Given the description of an element on the screen output the (x, y) to click on. 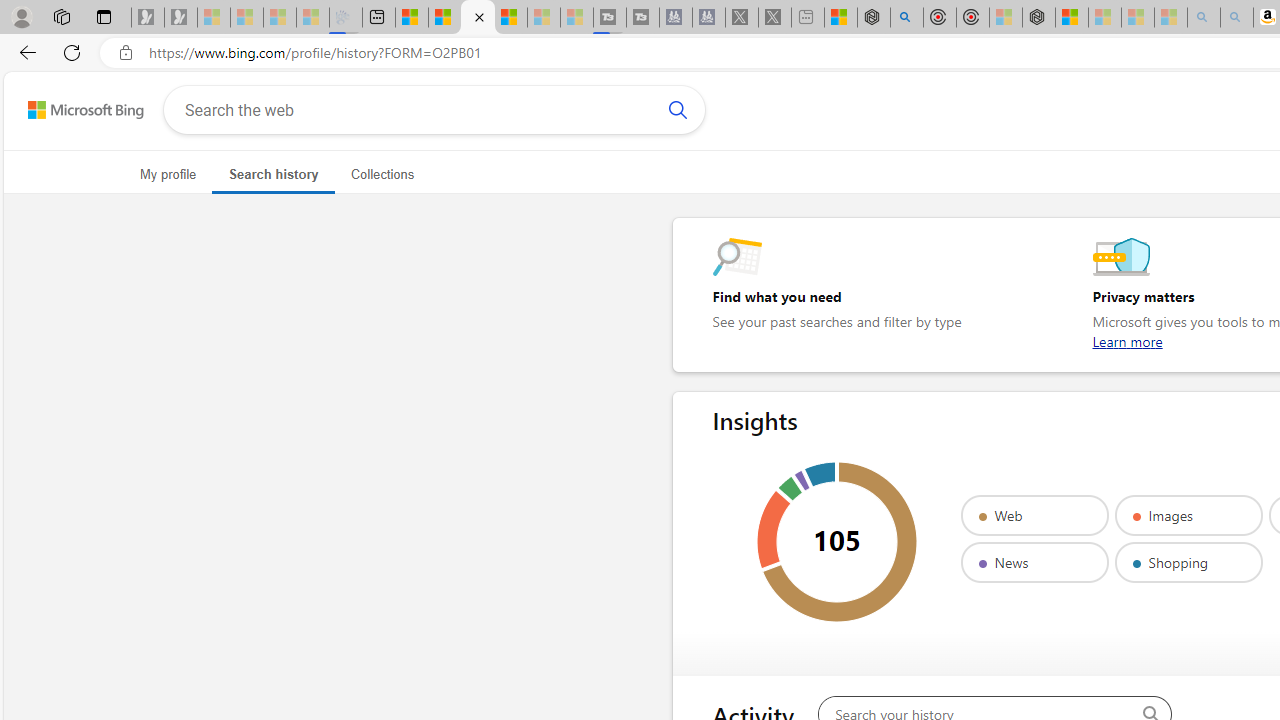
My profile (168, 174)
Personal Profile (21, 16)
Class: el_arc partner-shopping (819, 475)
Web (1034, 515)
Collections (381, 174)
Shopping (1188, 562)
Refresh (72, 52)
Search button (677, 110)
